Given the description of an element on the screen output the (x, y) to click on. 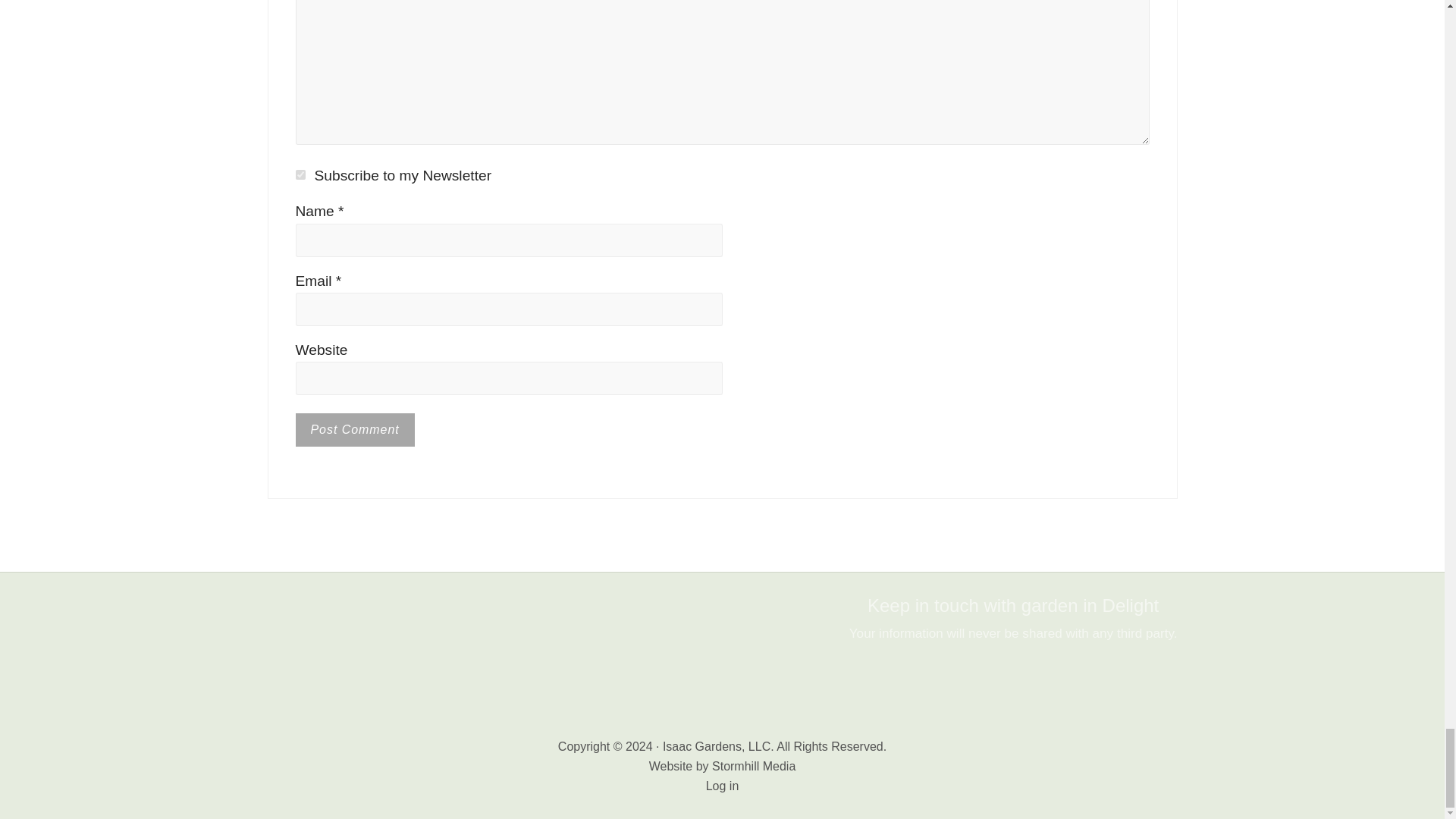
1 (300, 174)
Post Comment (354, 429)
